Given the description of an element on the screen output the (x, y) to click on. 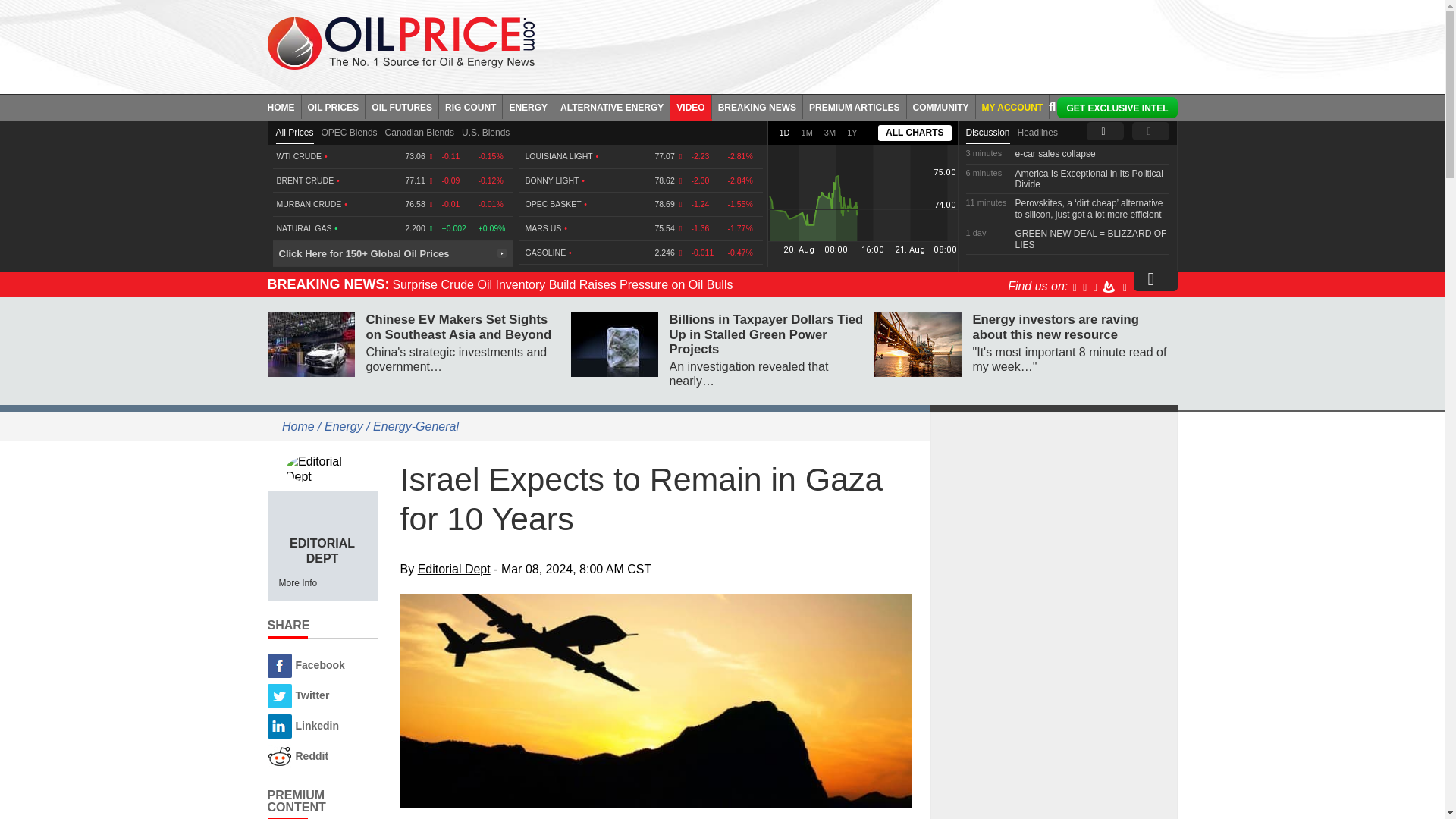
VIDEO (690, 106)
ALTERNATIVE ENERGY (611, 106)
COMMUNITY (941, 106)
MY ACCOUNT (1012, 106)
HOME (283, 106)
OIL FUTURES (402, 106)
Chinese EV Makers Set Sights on Southeast Asia and Beyond (309, 344)
Drone (656, 700)
RIG COUNT (470, 106)
